Given the description of an element on the screen output the (x, y) to click on. 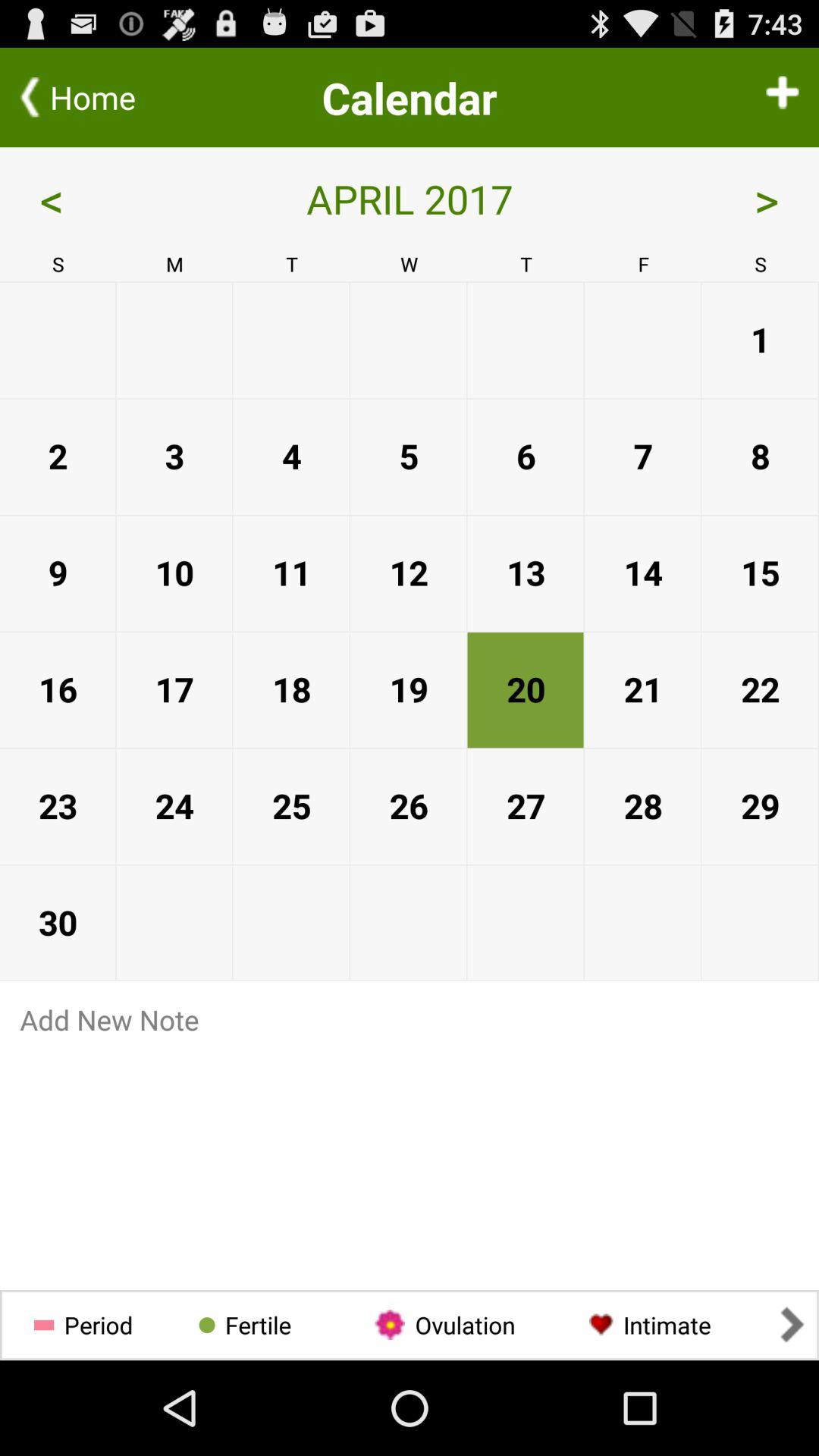
add an event (782, 97)
